Given the description of an element on the screen output the (x, y) to click on. 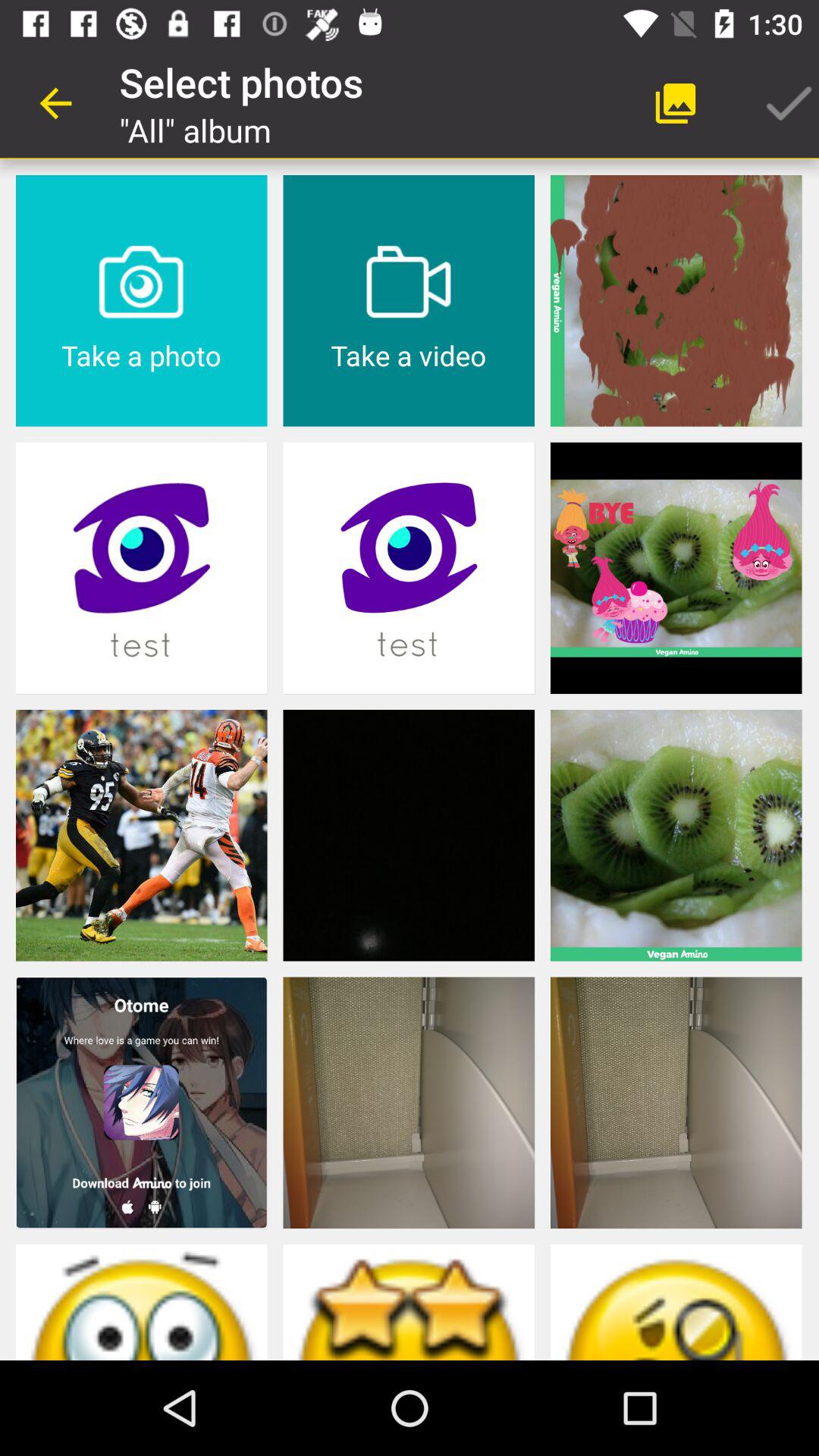
select the image below the button take a photo on the web page (141, 568)
